Given the description of an element on the screen output the (x, y) to click on. 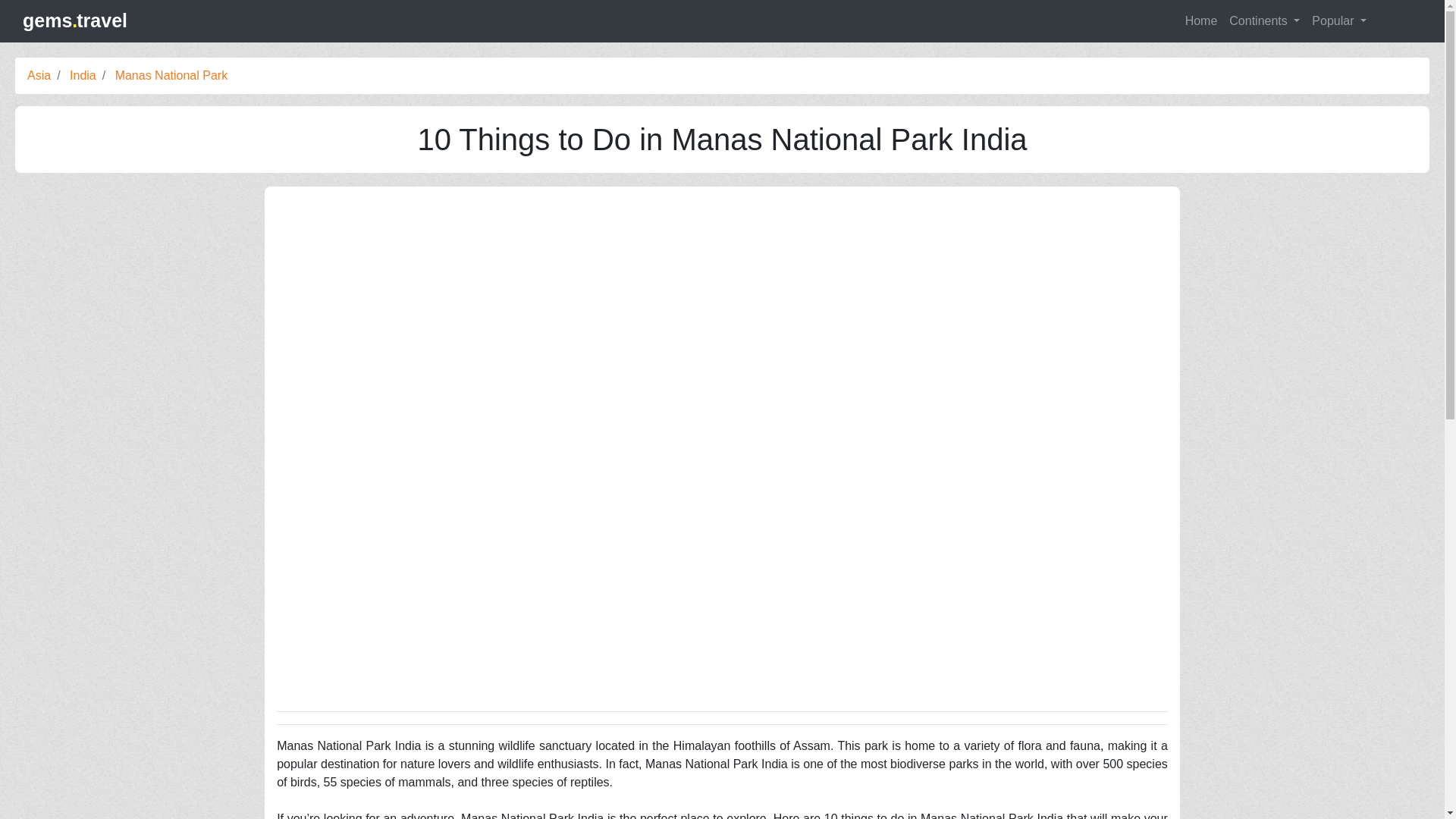
 Home (1198, 20)
gems.travel (75, 21)
India (82, 74)
Asia (38, 74)
Manas National Park (171, 74)
Continents (1264, 20)
Popular (1339, 20)
